Given the description of an element on the screen output the (x, y) to click on. 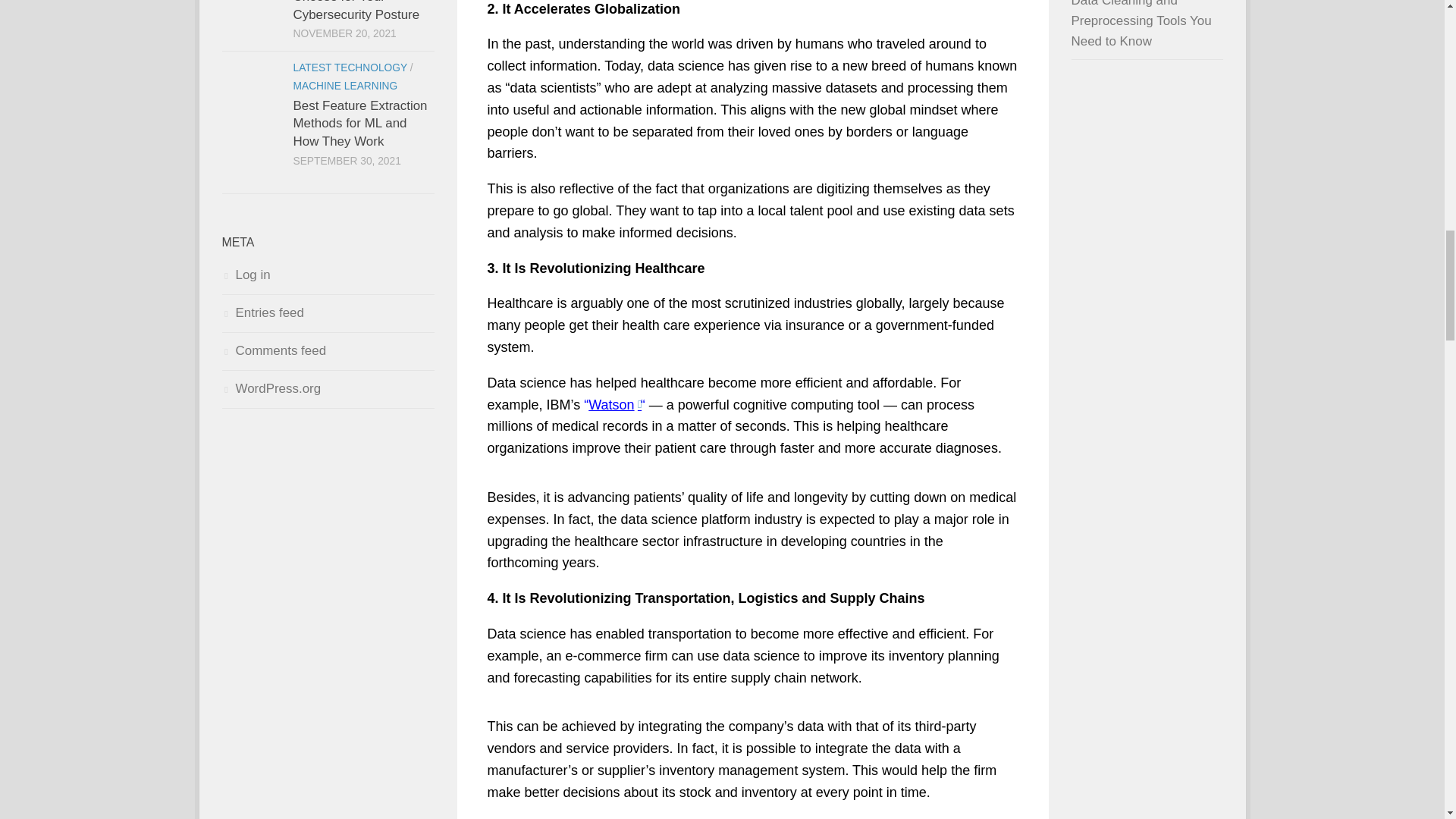
Watson (614, 404)
